Given the description of an element on the screen output the (x, y) to click on. 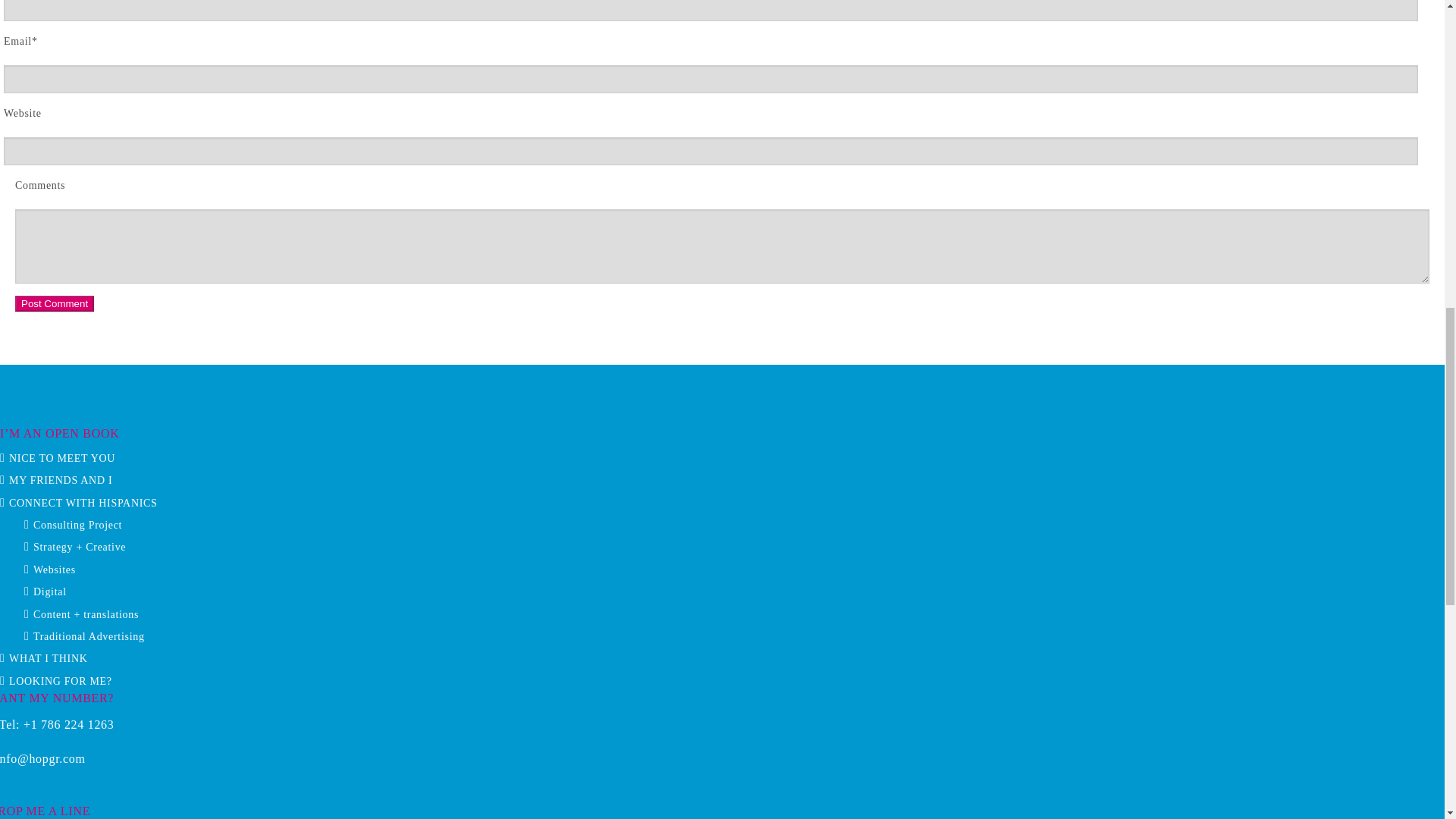
Post Comment (54, 303)
Post Comment (54, 303)
MY FRIENDS AND I (60, 480)
WHAT I THINK (47, 658)
Consulting Project (77, 524)
LOOKING FOR ME? (60, 681)
Traditional Advertising (88, 636)
NICE TO MEET YOU (61, 458)
Digital (49, 591)
Websites (54, 569)
